Given the description of an element on the screen output the (x, y) to click on. 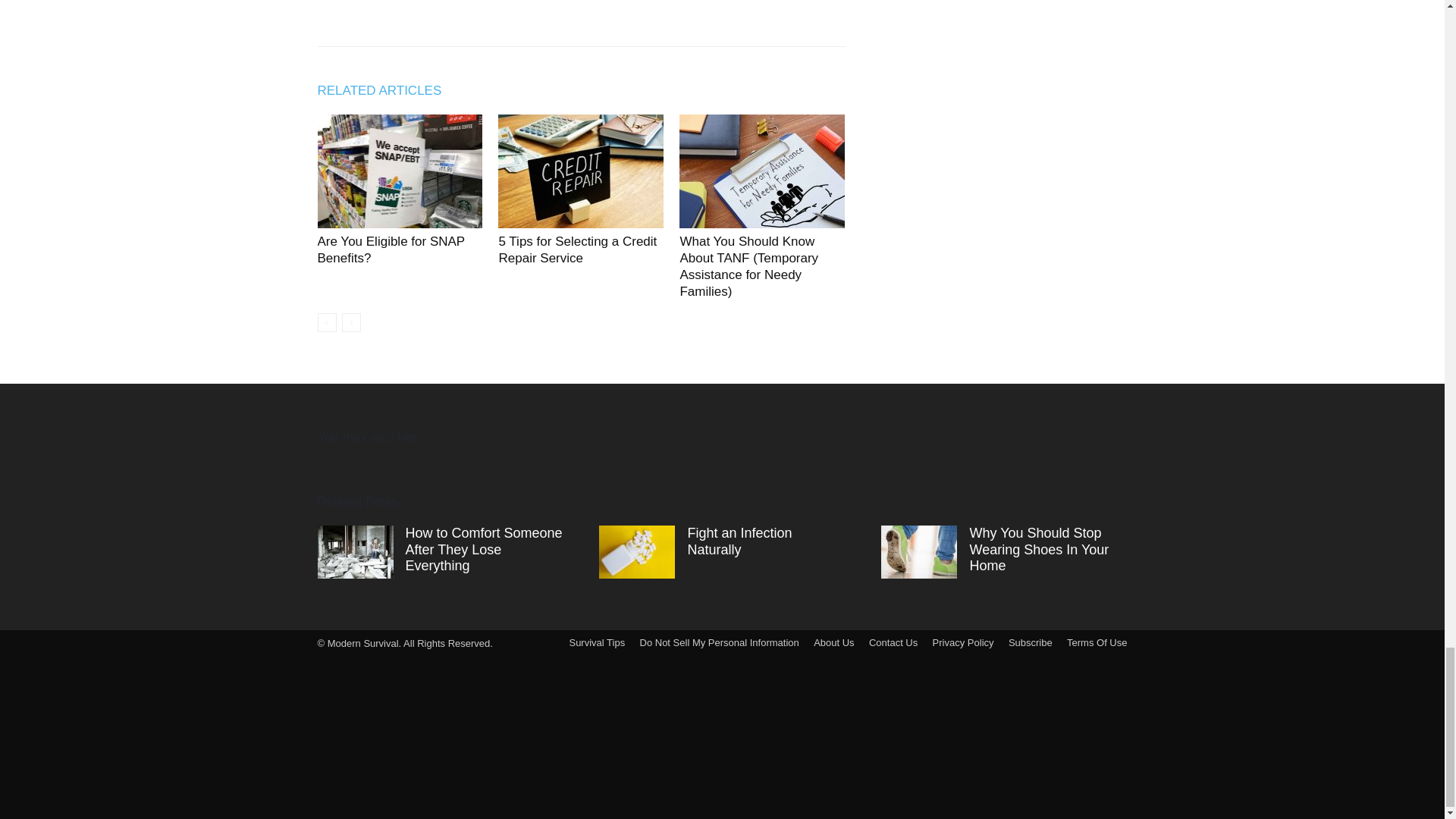
Are You Eligible for SNAP Benefits? (390, 249)
Are You Eligible for SNAP Benefits? (390, 249)
Are You Eligible for SNAP Benefits? (399, 171)
5 Tips for Selecting a Credit Repair Service (576, 249)
5 Tips for Selecting a Credit Repair Service (580, 171)
RELATED ARTICLES (387, 90)
5 Tips for Selecting a Credit Repair Service (576, 249)
